Given the description of an element on the screen output the (x, y) to click on. 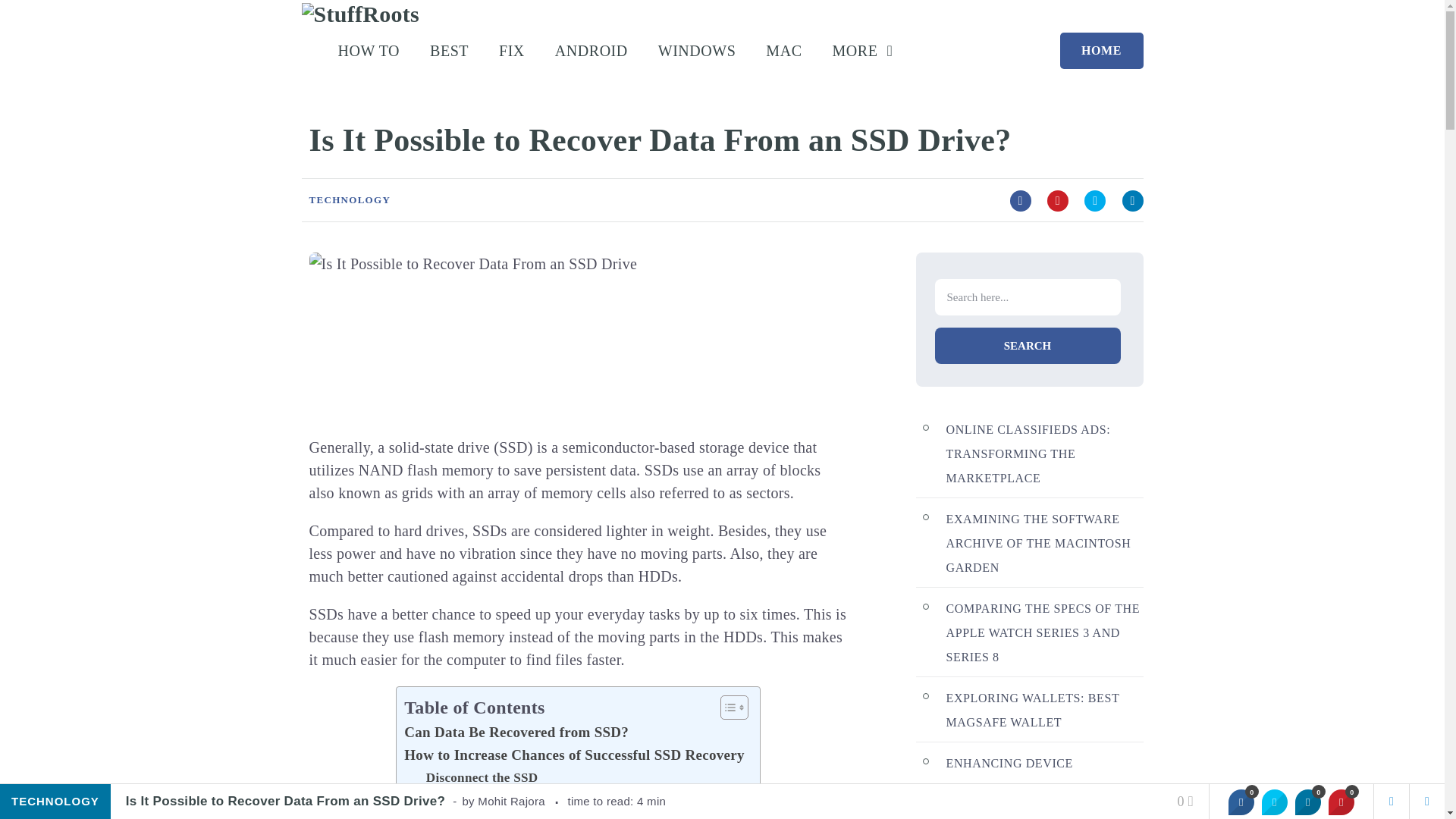
How to Increase Chances of Successful SSD Recovery (574, 754)
View all posts in Technology (349, 199)
HOME (1100, 50)
HOW TO (368, 52)
Can Data Be Recovered from SSD? (516, 732)
MORE (870, 52)
Install data recovery software on a different drive (568, 813)
ANDROID (590, 52)
How to Increase Chances of Successful SSD Recovery (574, 754)
BEST (448, 52)
